Given the description of an element on the screen output the (x, y) to click on. 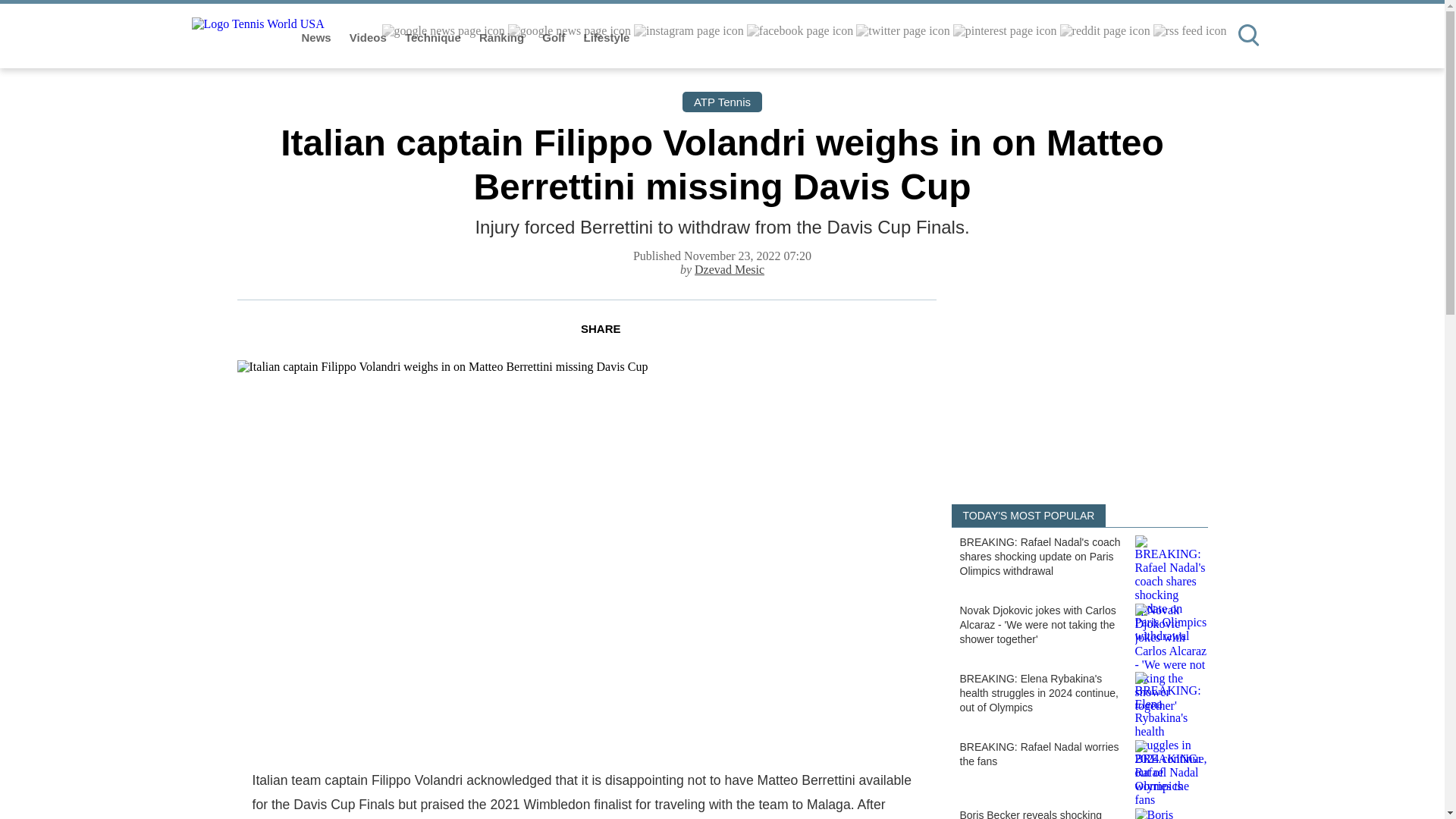
Lifestyle (606, 37)
Ranking (503, 37)
Golf (554, 37)
Videos (369, 37)
News (317, 37)
Technique (434, 37)
